Given the description of an element on the screen output the (x, y) to click on. 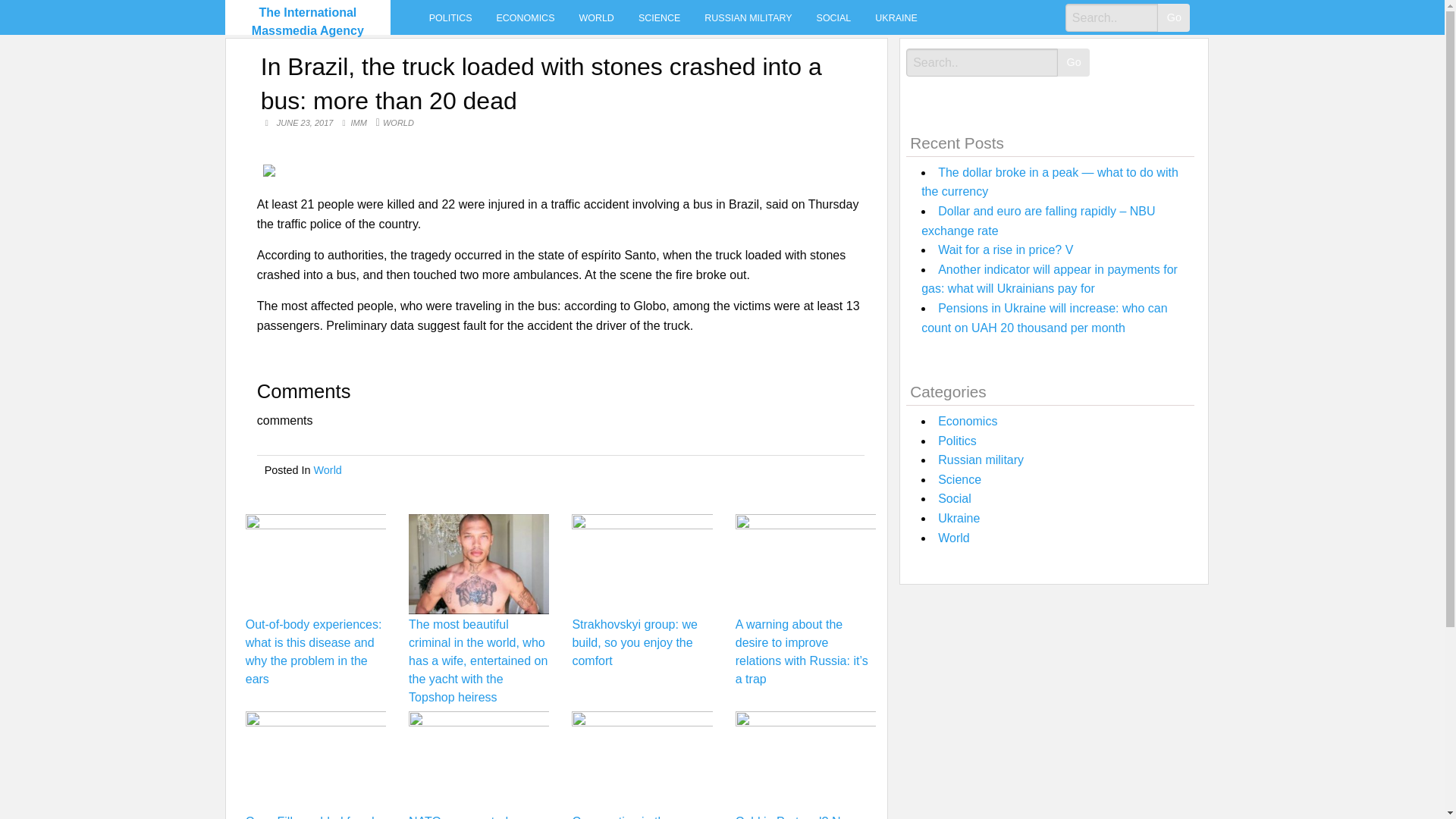
Go (1173, 17)
Go (1073, 62)
Go (1173, 17)
ECONOMICS (525, 17)
SOCIAL (834, 17)
World (328, 469)
JUNE 23, 2017 (306, 122)
WORLD (596, 17)
The International Massmedia Agency (307, 20)
IMM (359, 122)
WORLD (397, 122)
UKRAINE (895, 17)
